Given the description of an element on the screen output the (x, y) to click on. 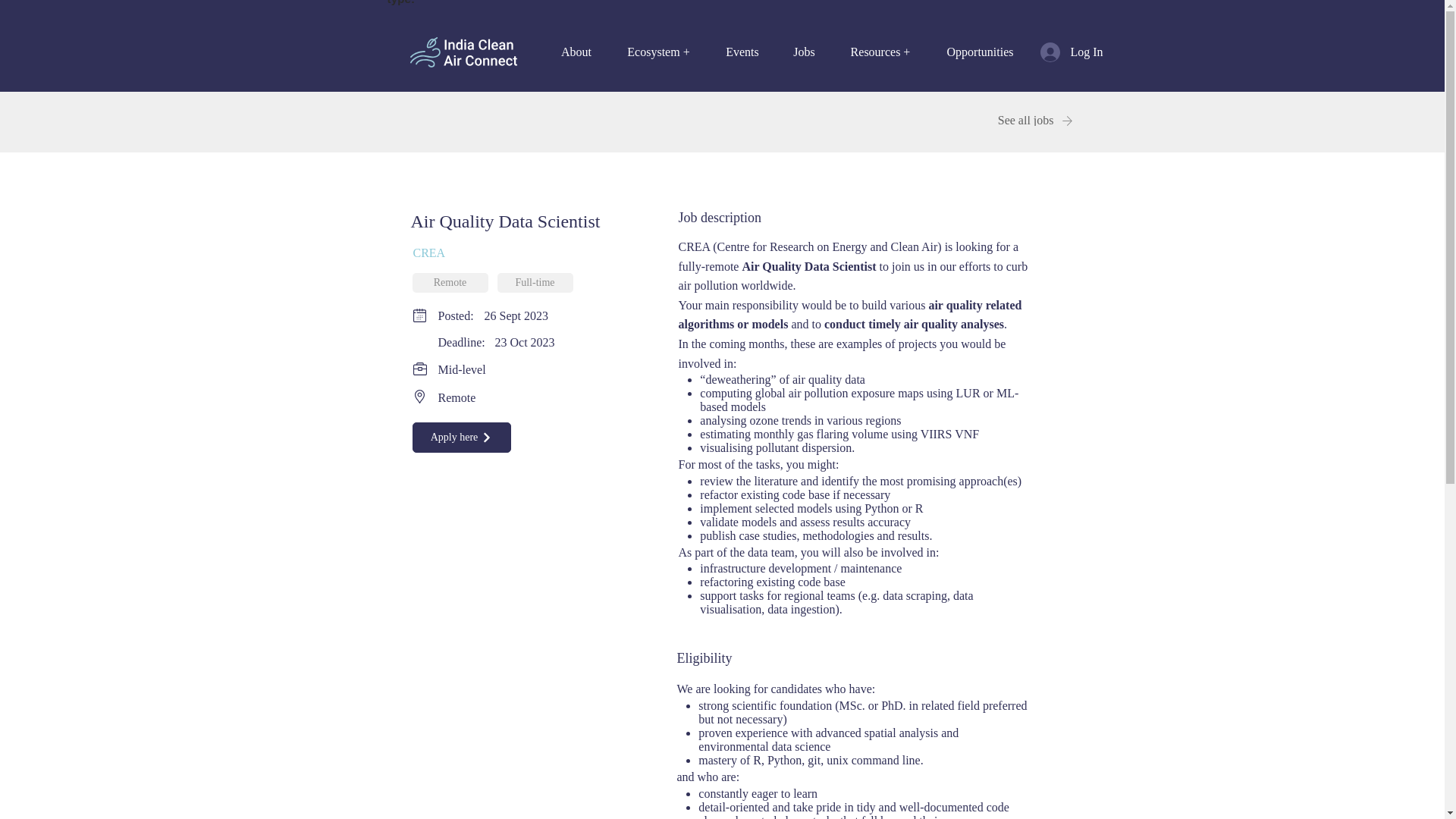
About (576, 51)
Apply here (461, 437)
Opportunities (979, 51)
See all jobs (1017, 120)
Jobs (804, 51)
Log In (1060, 51)
Remote (449, 282)
Events (741, 51)
Full-time (535, 282)
